Given the description of an element on the screen output the (x, y) to click on. 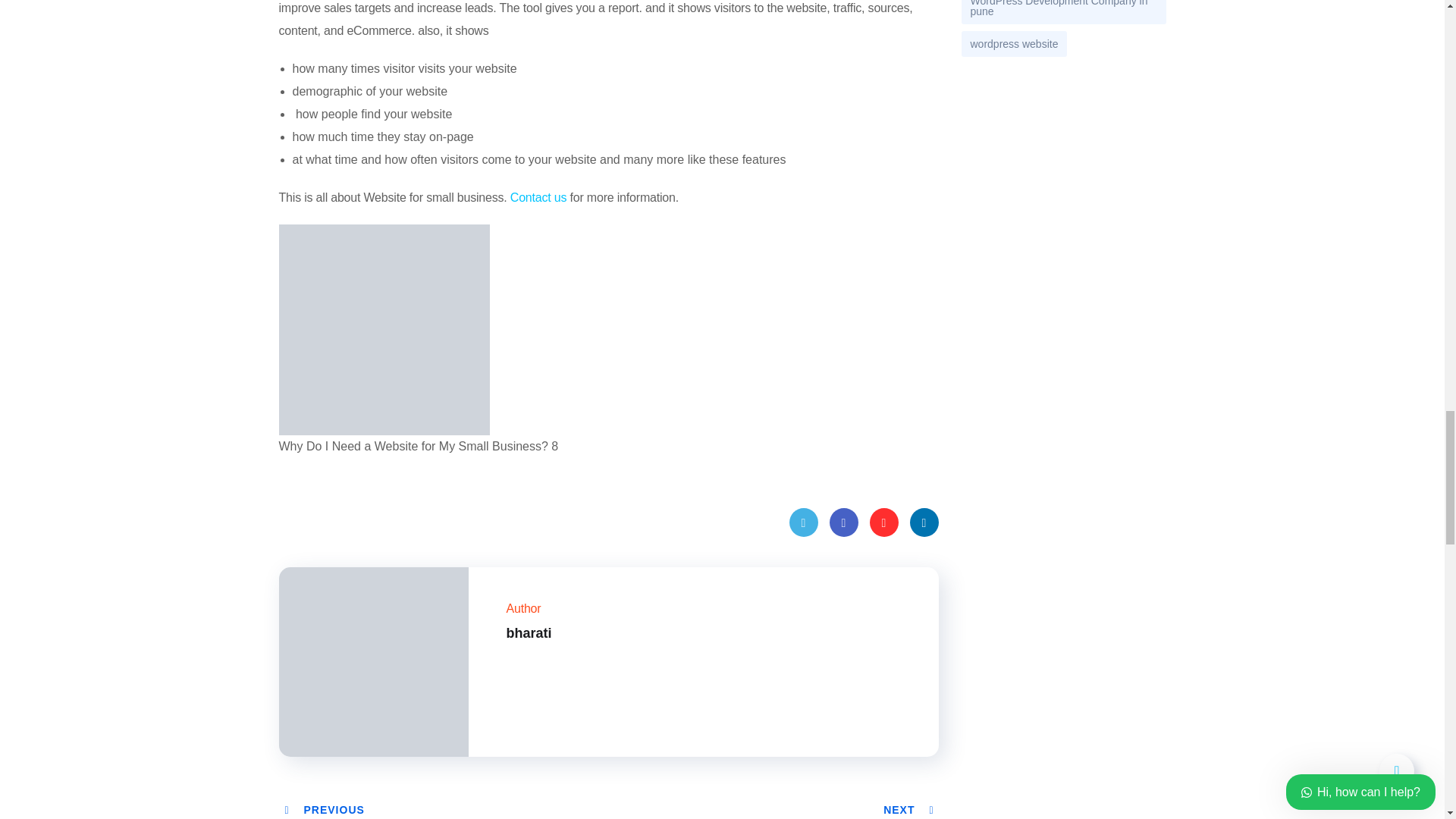
LinkedIn (924, 522)
Why Do I Need a Website for My Small Business? 5 (384, 329)
Pinterest (883, 522)
Twitter (802, 522)
Facebook (844, 522)
